Given the description of an element on the screen output the (x, y) to click on. 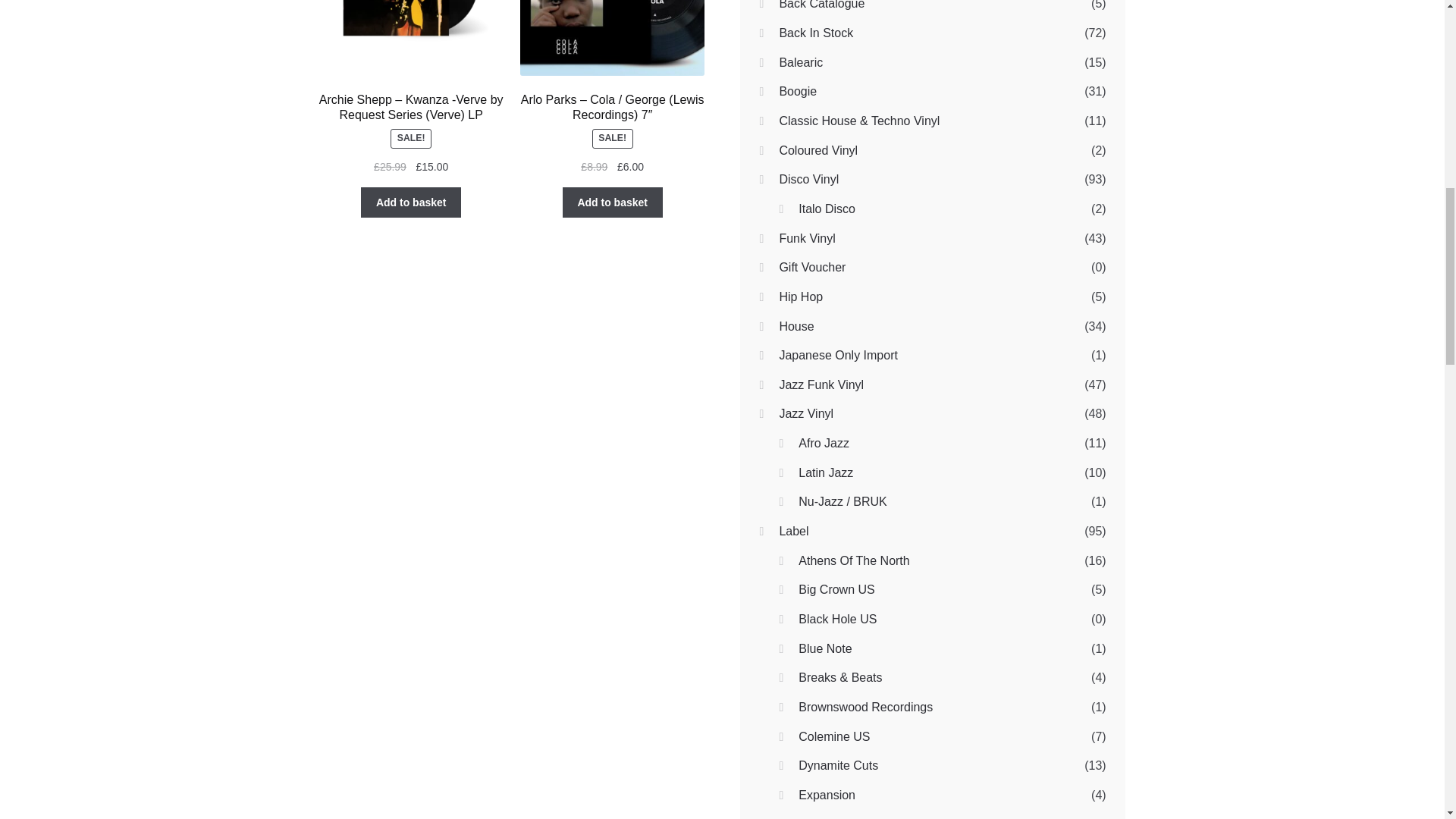
Balearic (800, 62)
Boogie (797, 91)
Back In Stock (815, 32)
Back Catalogue (821, 4)
Add to basket (612, 202)
Add to basket (411, 202)
